Given the description of an element on the screen output the (x, y) to click on. 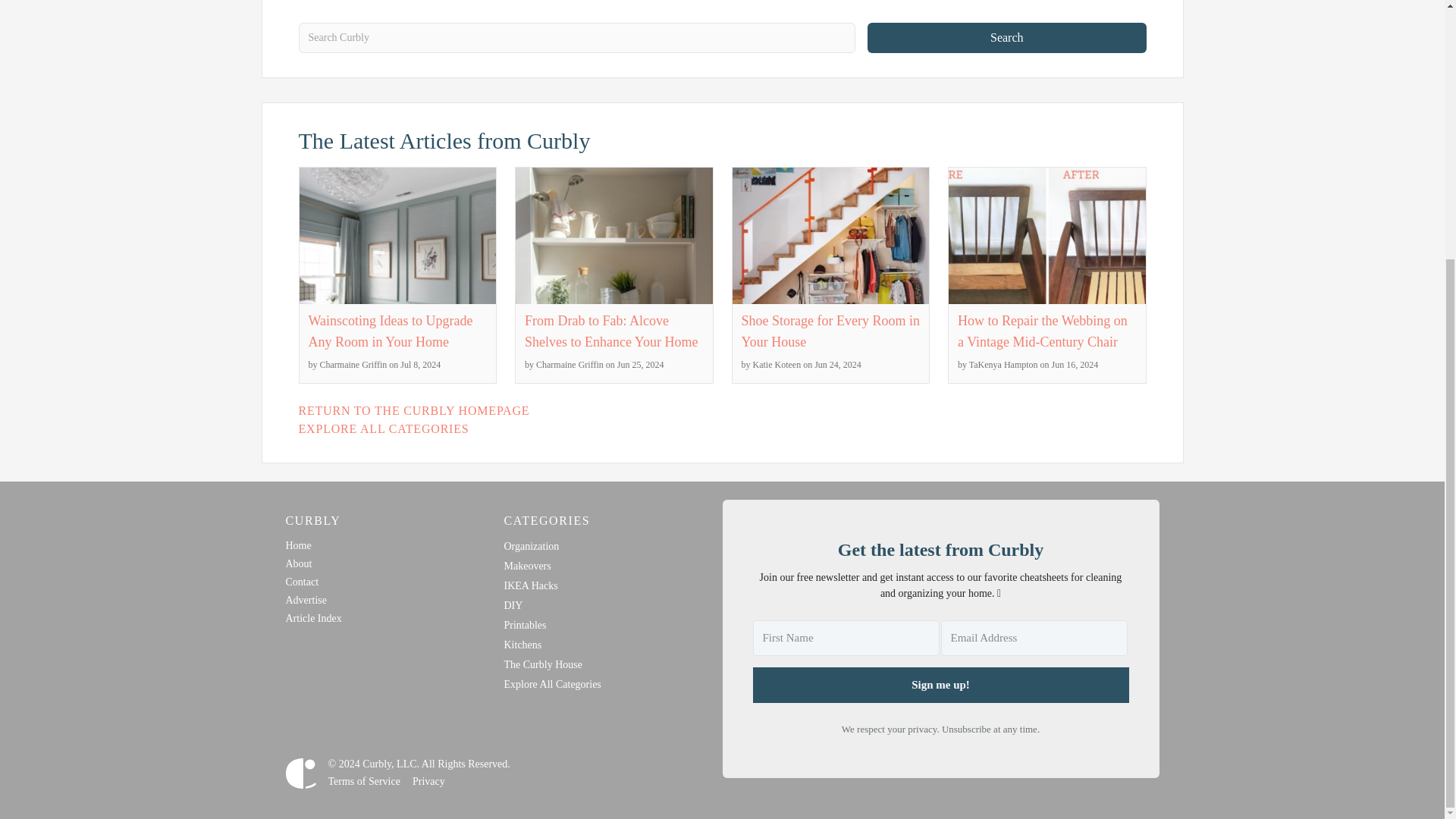
About (298, 563)
EXPLORE ALL CATEGORIES (383, 428)
Shoe Storage for Every Room in Your House (830, 330)
From Drab to Fab: Alcove Shelves to Enhance Your Home (610, 330)
RETURN TO THE CURBLY HOMEPAGE (413, 410)
Home (298, 545)
Contact (301, 582)
How to Repair the Webbing on a Vintage Mid-Century Chair (1042, 330)
Wainscoting Ideas to Upgrade Any Room in Your Home (389, 330)
Search (1006, 37)
